Given the description of an element on the screen output the (x, y) to click on. 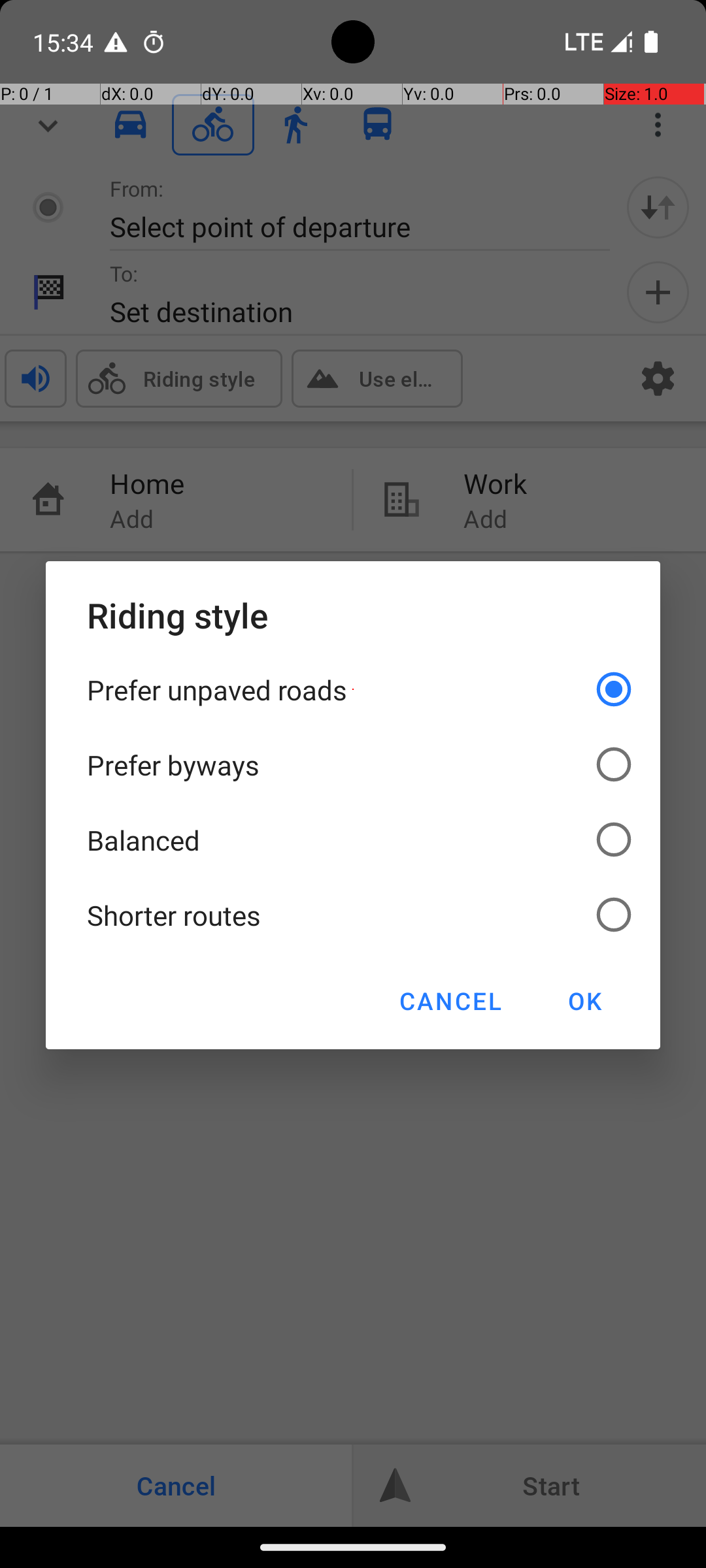
Riding style Element type: android.widget.TextView (352, 614)
Prefer unpaved roads Element type: android.widget.CheckedTextView (352, 689)
Prefer byways Element type: android.widget.CheckedTextView (352, 764)
Balanced Element type: android.widget.CheckedTextView (352, 839)
Shorter routes Element type: android.widget.CheckedTextView (352, 914)
